Given the description of an element on the screen output the (x, y) to click on. 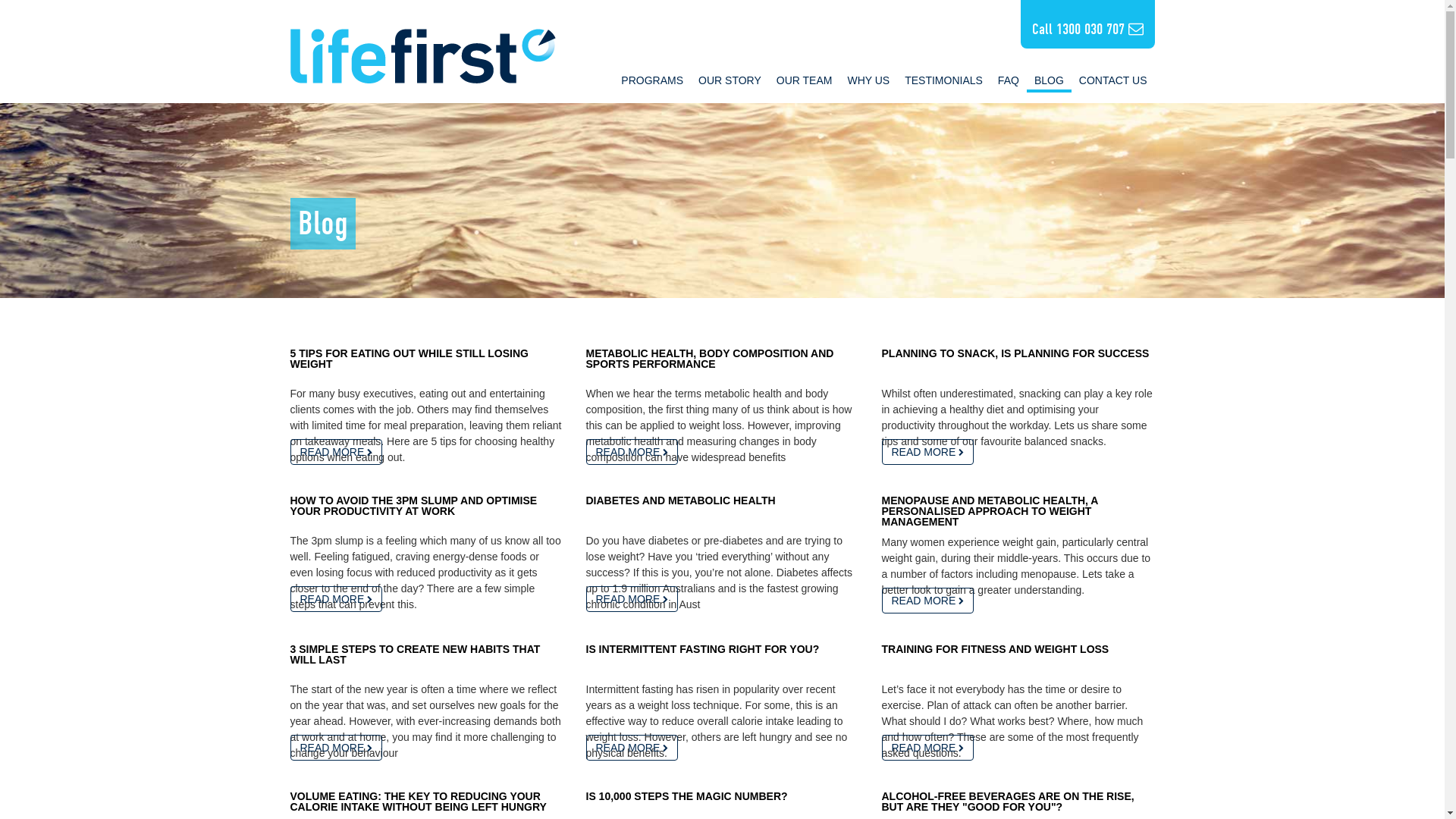
PLANNING TO SNACK, IS PLANNING FOR SUCCESS Element type: text (1014, 353)
1300 030 707 Element type: text (1098, 28)
5 TIPS FOR EATING OUT WHILE STILL LOSING WEIGHT Element type: text (408, 358)
TRAINING FOR FITNESS AND WEIGHT LOSS Element type: text (994, 649)
TESTIMONIALS Element type: text (943, 80)
READ MORE Element type: text (335, 747)
READ MORE Element type: text (335, 451)
READ MORE Element type: text (927, 600)
READ MORE Element type: text (631, 598)
WHY US Element type: text (868, 80)
OUR STORY Element type: text (729, 80)
READ MORE Element type: text (927, 747)
CONTACT US Element type: text (1112, 80)
READ MORE Element type: text (335, 598)
IS 10,000 STEPS THE MAGIC NUMBER? Element type: text (686, 796)
READ MORE Element type: text (927, 451)
3 SIMPLE STEPS TO CREATE NEW HABITS THAT WILL LAST Element type: text (414, 654)
READ MORE Element type: text (631, 747)
READ MORE Element type: text (631, 451)
BLOG Element type: text (1048, 78)
METABOLIC HEALTH, BODY COMPOSITION AND SPORTS PERFORMANCE Element type: text (709, 358)
DIABETES AND METABOLIC HEALTH Element type: text (680, 500)
PROGRAMS Element type: text (651, 80)
FAQ Element type: text (1008, 80)
IS INTERMITTENT FASTING RIGHT FOR YOU? Element type: text (702, 649)
OUR TEAM Element type: text (804, 80)
